Given the description of an element on the screen output the (x, y) to click on. 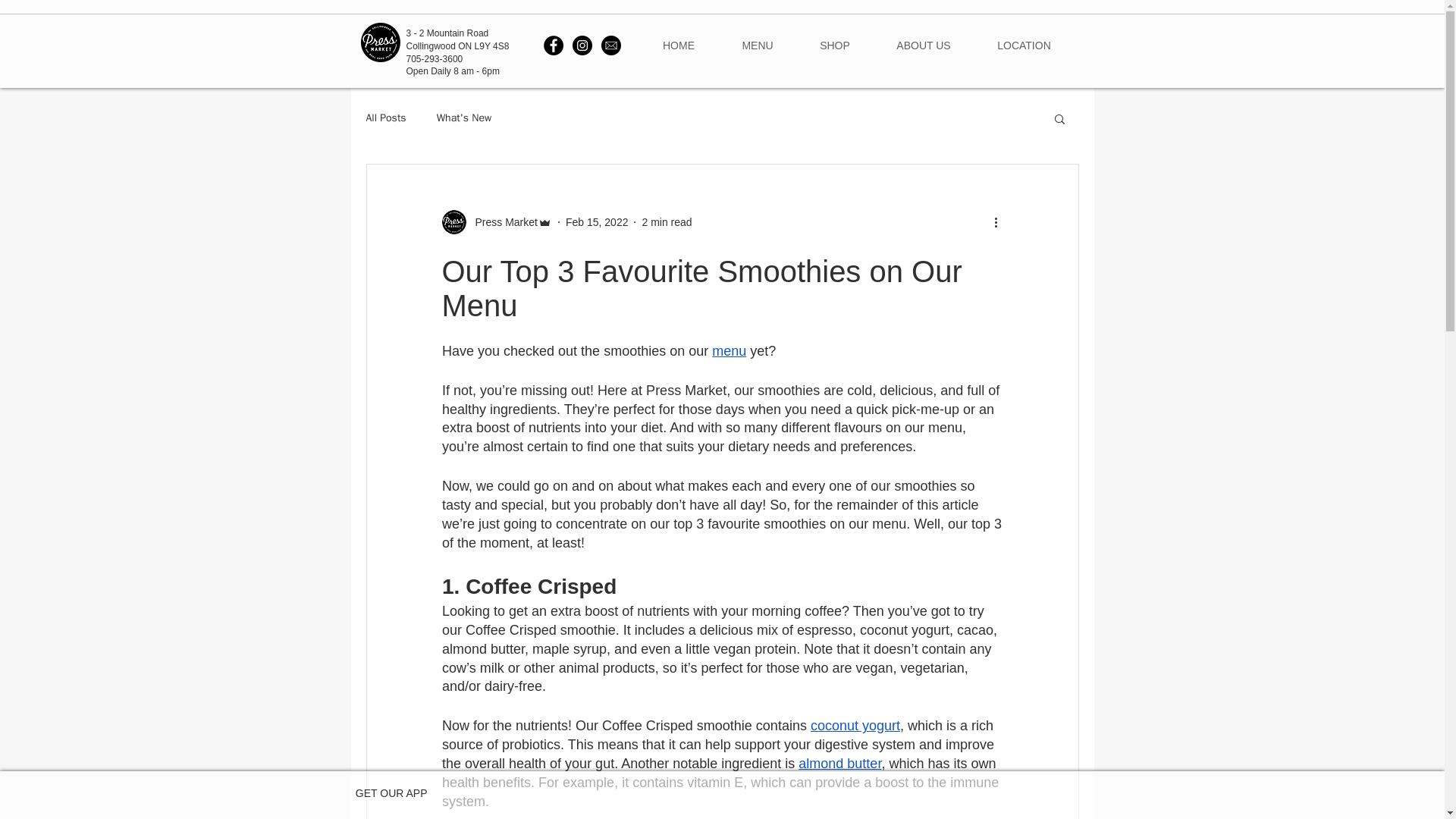
coconut yogurt (854, 725)
Press Market (501, 222)
Press Market (496, 221)
All Posts (385, 118)
Feb 15, 2022 (597, 222)
2 min read (666, 222)
GET OUR APP (391, 793)
LOCATION (1024, 45)
menu (728, 350)
MENU (757, 45)
HOME (678, 45)
almond butter (838, 763)
What's New (464, 118)
SHOP (834, 45)
ABOUT US (923, 45)
